Given the description of an element on the screen output the (x, y) to click on. 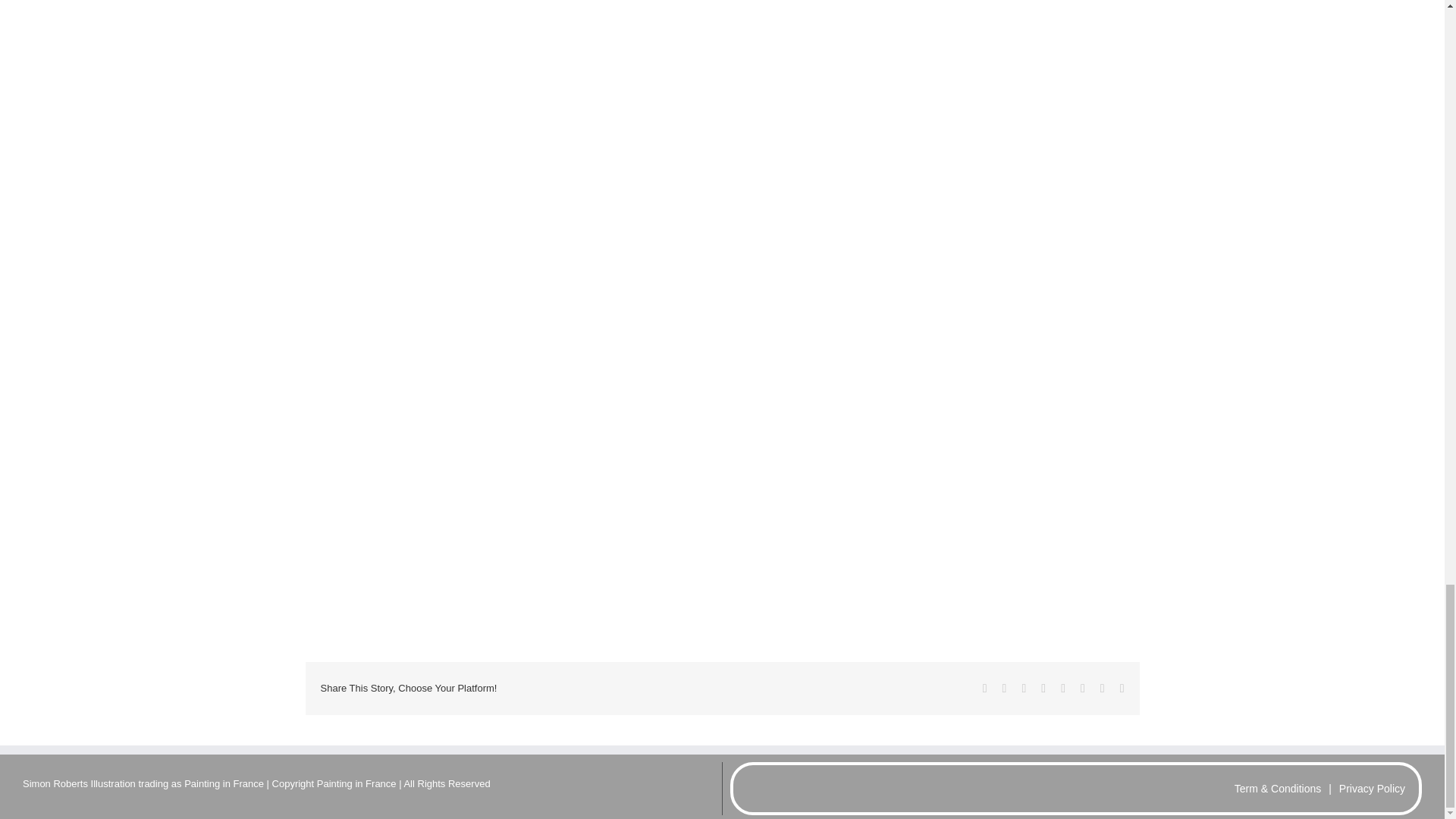
Privacy Policy (1372, 789)
